Given the description of an element on the screen output the (x, y) to click on. 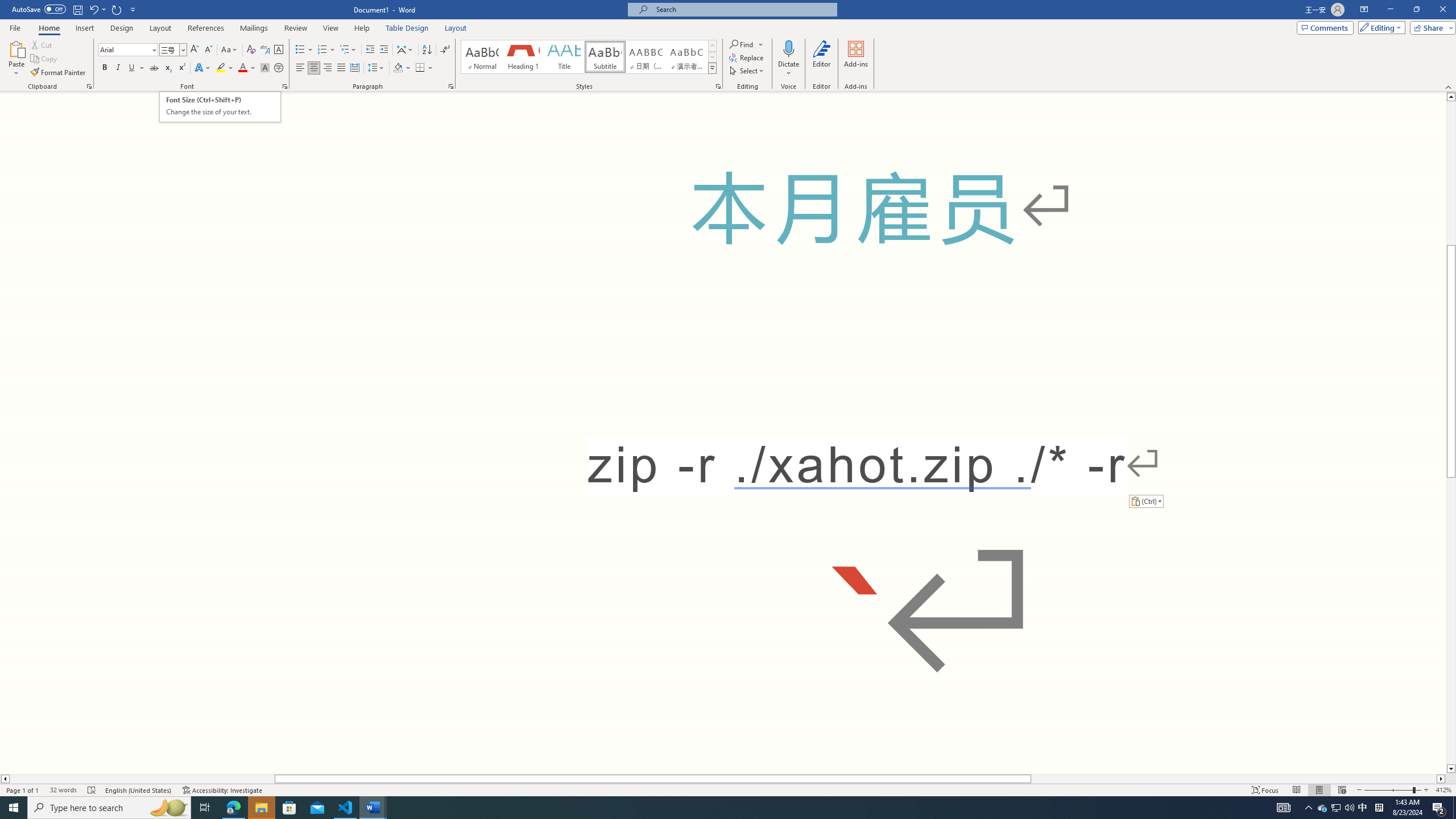
Page down (1450, 620)
Zoom 412% (1443, 790)
AutomationID: QuickStylesGallery (588, 56)
